Given the description of an element on the screen output the (x, y) to click on. 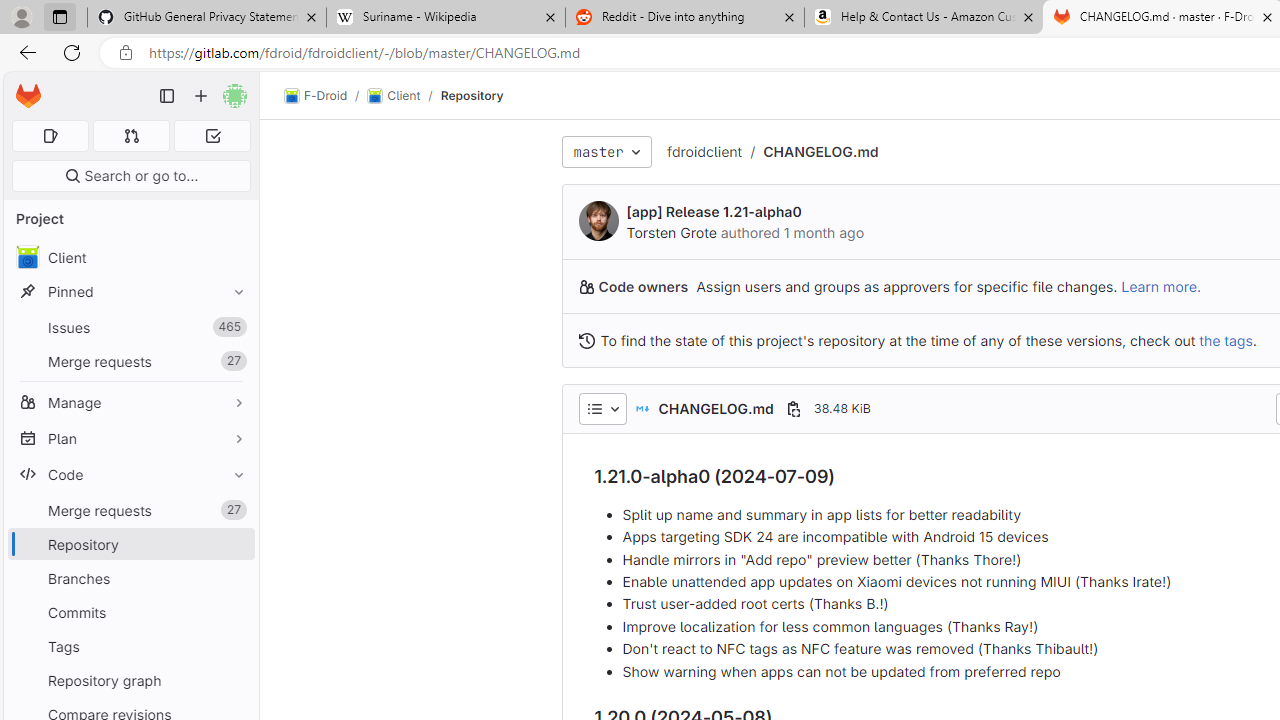
Learn more. (1160, 286)
master (605, 151)
Primary navigation sidebar (167, 96)
Issues465 (130, 327)
Code (130, 474)
Pin Repository graph (234, 680)
Pin Branches (234, 578)
Pin Repository (234, 544)
Unpin Merge requests (234, 510)
Merge requests 27 (130, 510)
fdroidclient (703, 151)
Branches (130, 578)
Branches (130, 578)
